Given the description of an element on the screen output the (x, y) to click on. 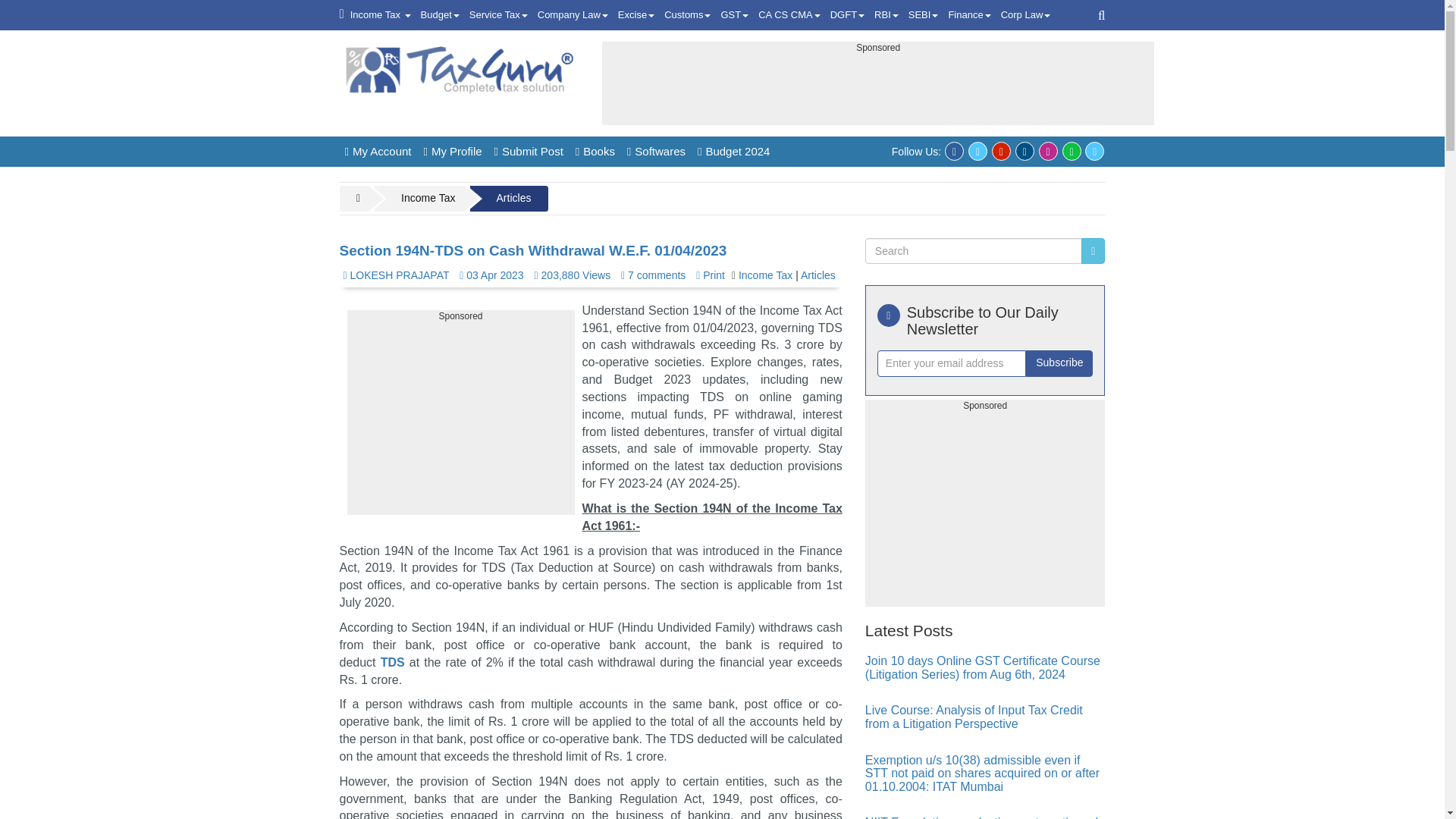
Service Tax Article News Notifications Judgments (498, 15)
Company Law (572, 15)
Service Tax (498, 15)
Union Budget 2024 Article News Notifications (439, 15)
Income Tax (380, 15)
Customs (687, 15)
Budget (439, 15)
Income Tax Related Information (380, 15)
Excise (636, 15)
